Given the description of an element on the screen output the (x, y) to click on. 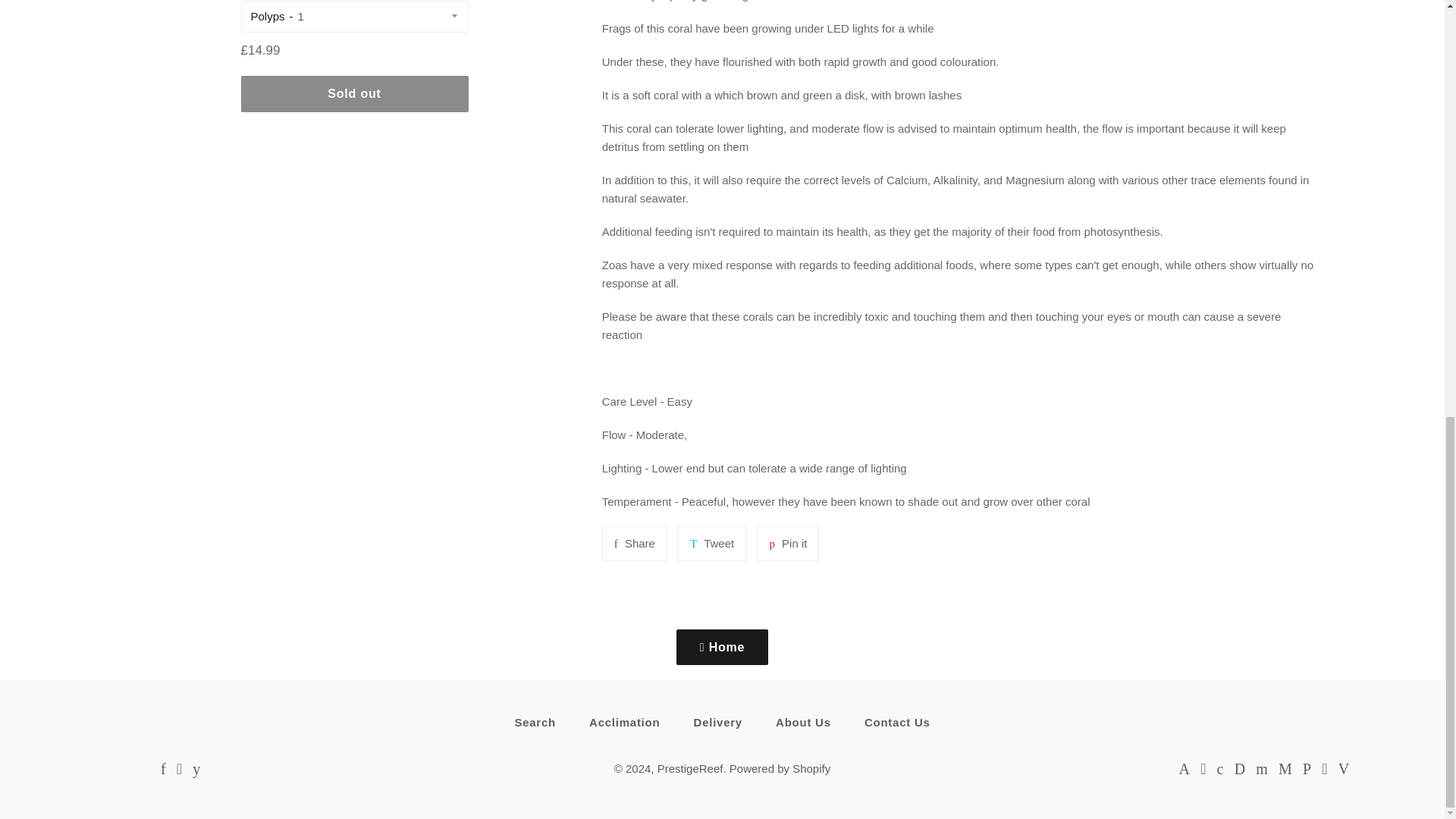
Share on Facebook (634, 543)
Tweet on Twitter (711, 543)
Pin on Pinterest (787, 543)
